Given the description of an element on the screen output the (x, y) to click on. 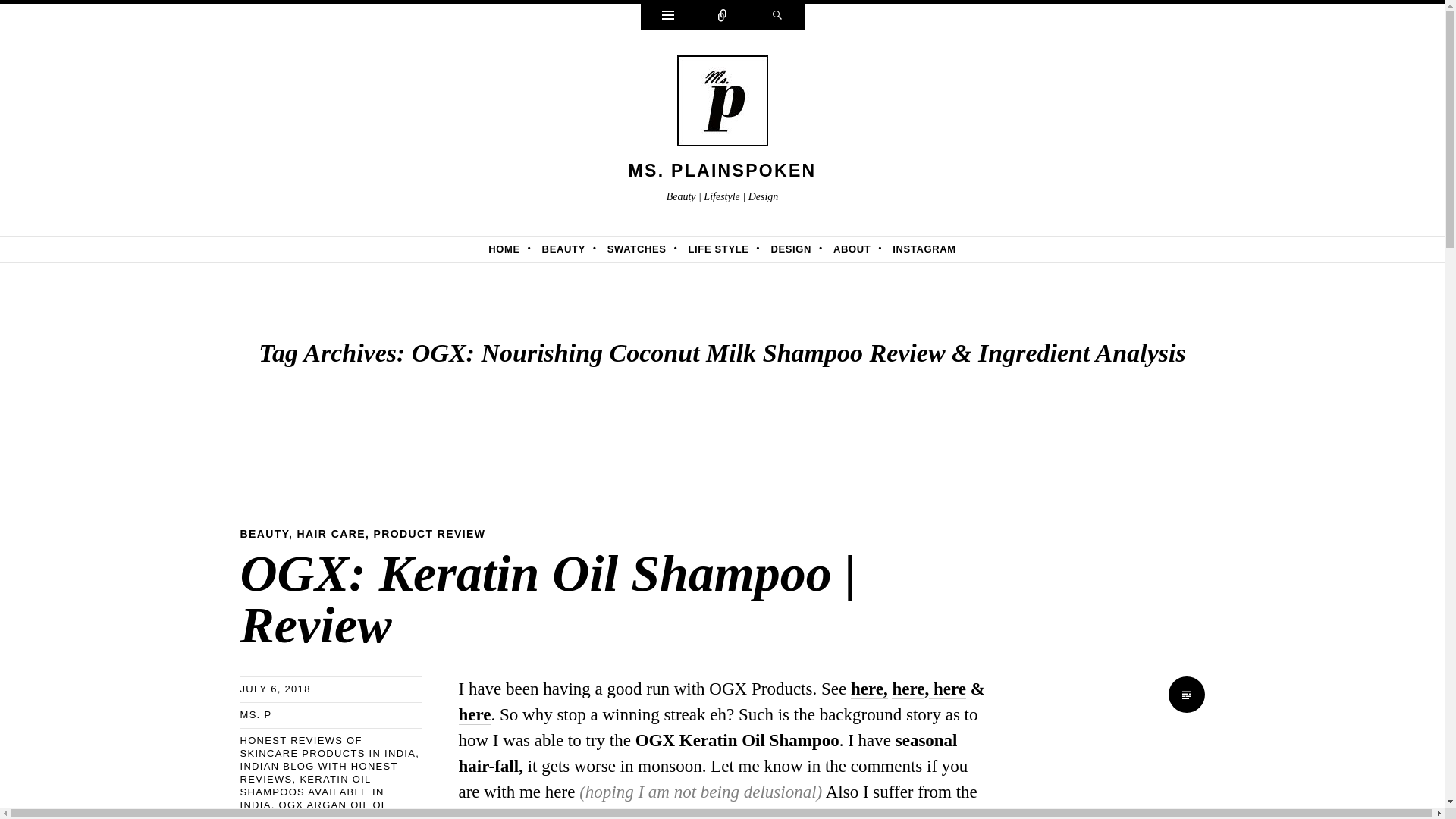
Skip to content (56, 248)
Ms. Plainspoken (722, 104)
Connect (721, 16)
View all posts by Ms. P (255, 714)
Search (776, 16)
Ms. Plainspoken (722, 170)
7:00 pm (275, 688)
Widgets (667, 16)
